Given the description of an element on the screen output the (x, y) to click on. 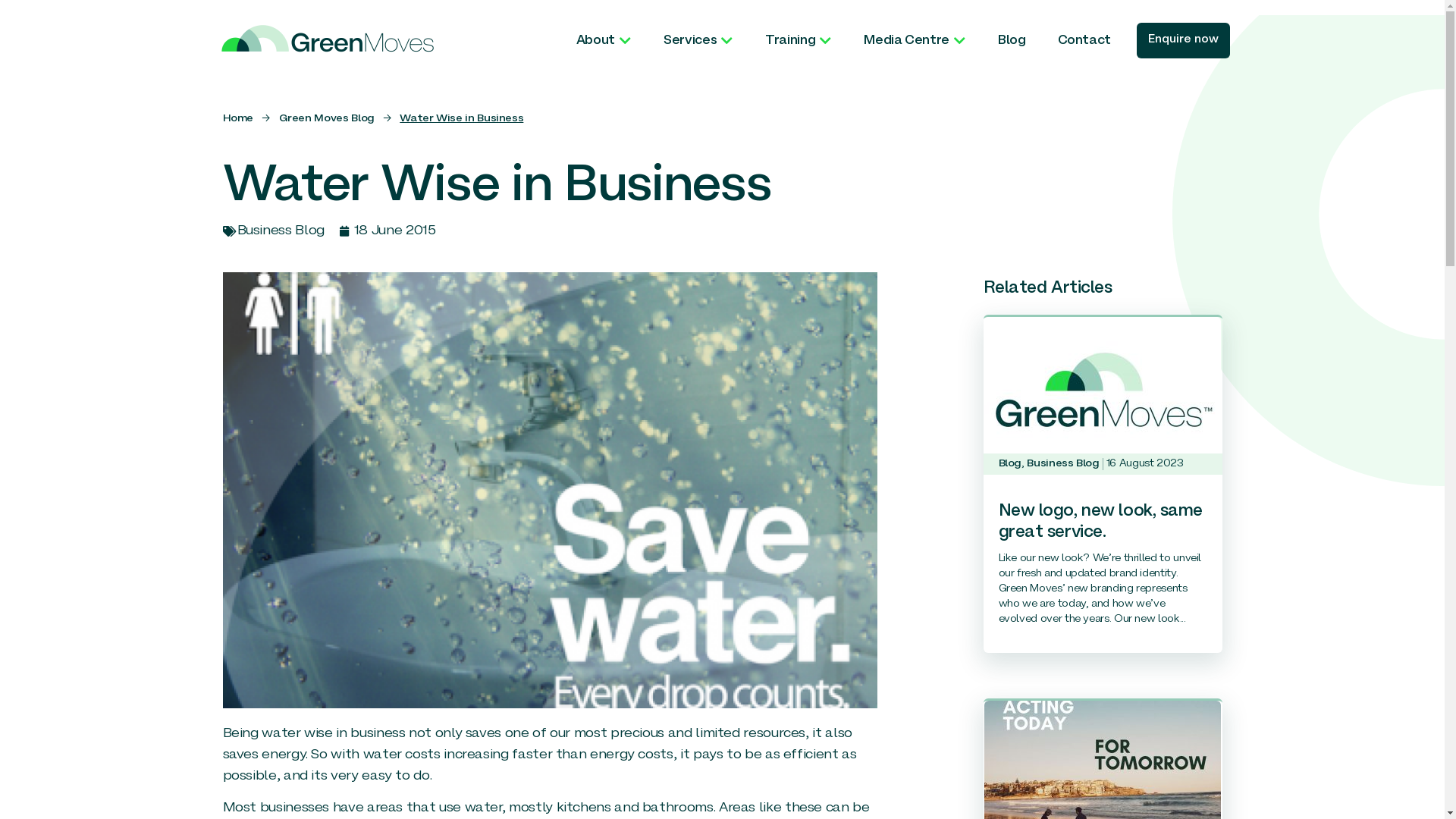
About Element type: text (603, 40)
Enquire now Element type: text (1182, 40)
Green Moves Blog Element type: text (326, 118)
Contact Element type: text (1083, 40)
Blog Element type: text (1010, 463)
Training Element type: text (798, 40)
New logo, new look, same great service. Element type: text (1100, 521)
Media Centre Element type: text (914, 40)
Home Element type: text (238, 118)
Services Element type: text (698, 40)
Blog Element type: text (1011, 40)
gm-feature-logo-padded Element type: hover (1102, 395)
Smarter-Water-Use-in-Your-Business Element type: hover (549, 490)
Business Blog Element type: text (1062, 463)
